Given the description of an element on the screen output the (x, y) to click on. 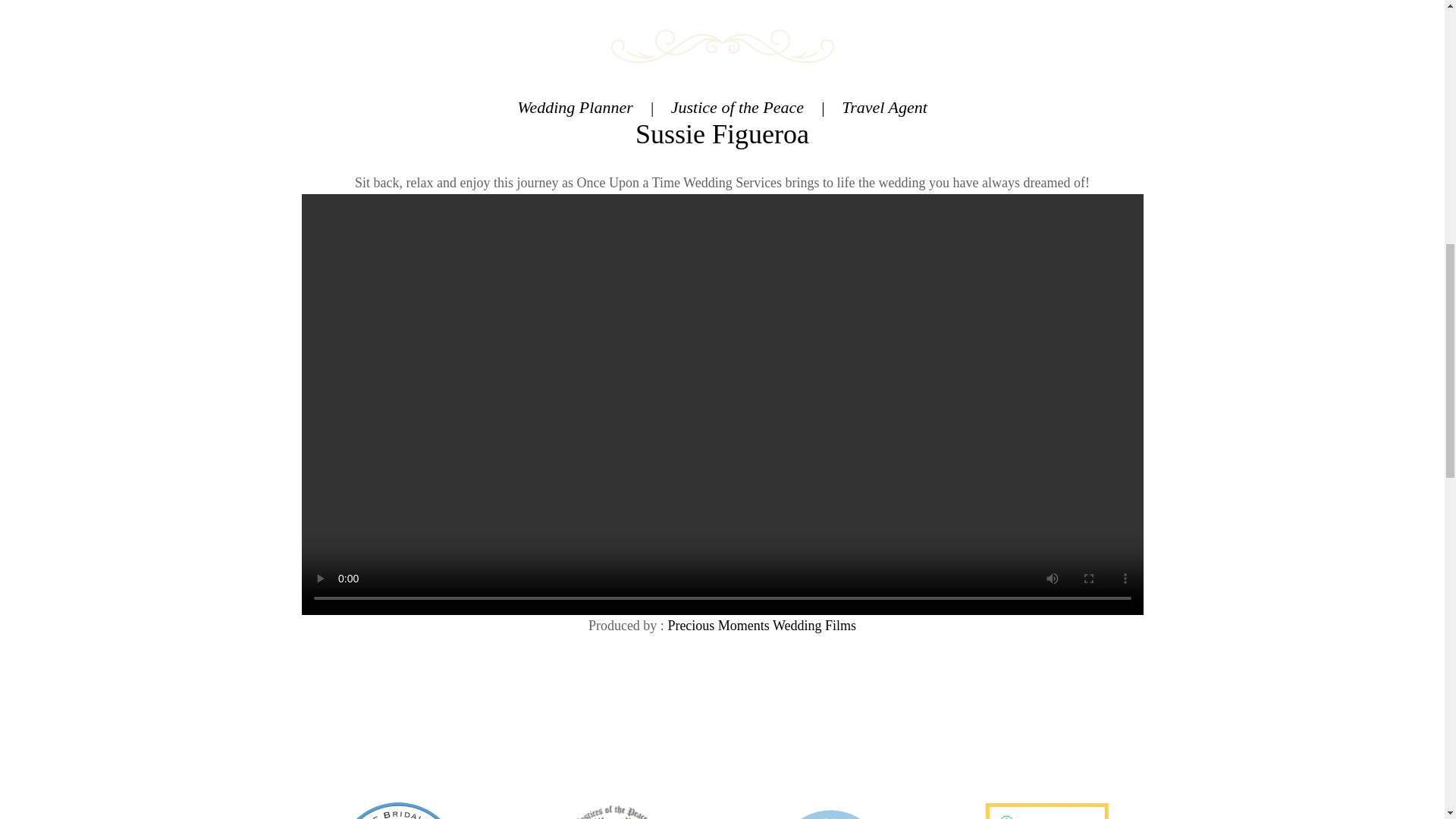
Precious Moments Wedding Films (761, 625)
